Given the description of an element on the screen output the (x, y) to click on. 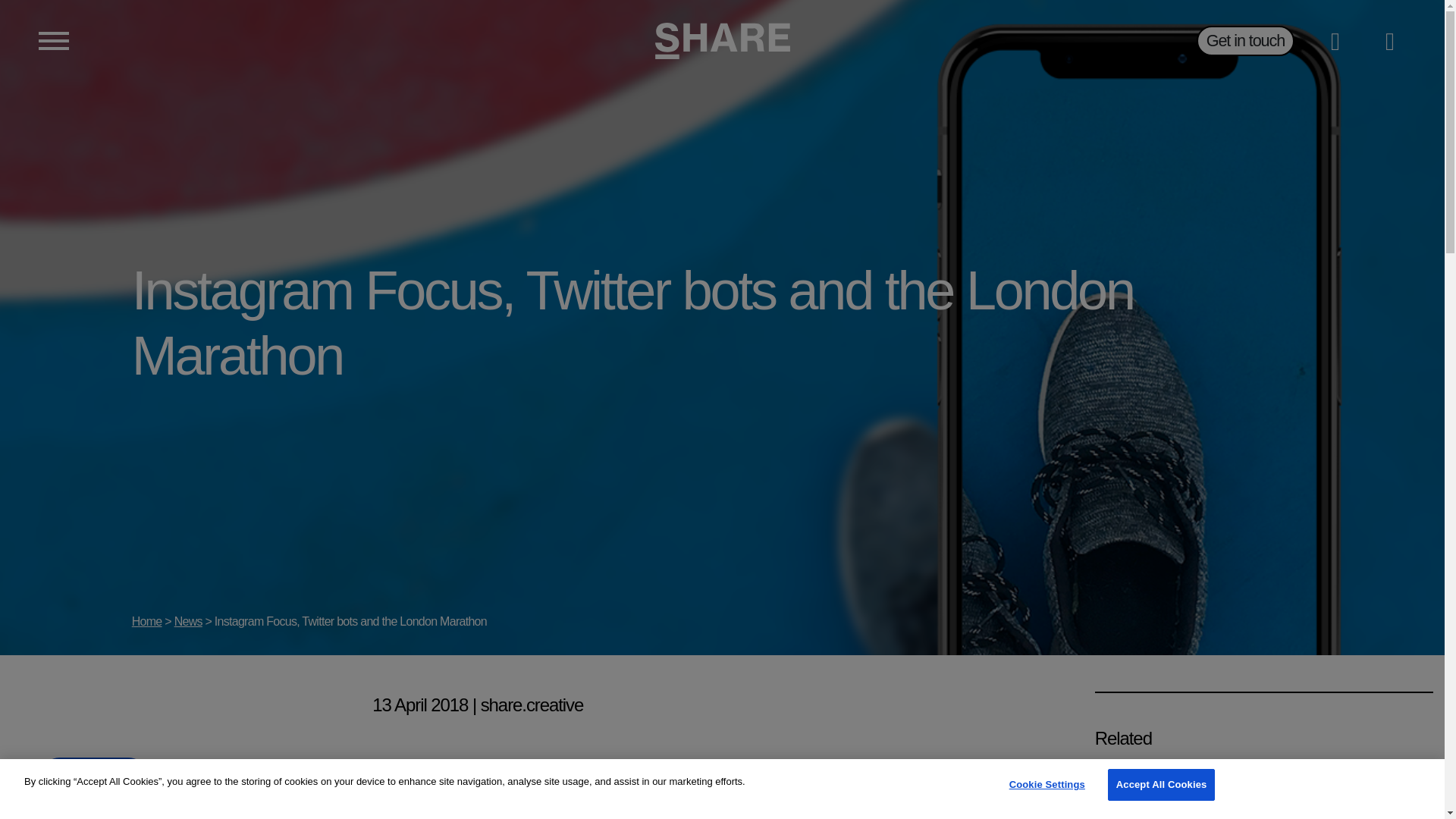
News (188, 621)
SHARE Creative (722, 40)
Home (146, 621)
Get in touch (1245, 40)
Contact Us (94, 778)
5 things you need to know as a Community Manager (1263, 789)
13 April 2018 (419, 704)
share.creative (531, 704)
